Given the description of an element on the screen output the (x, y) to click on. 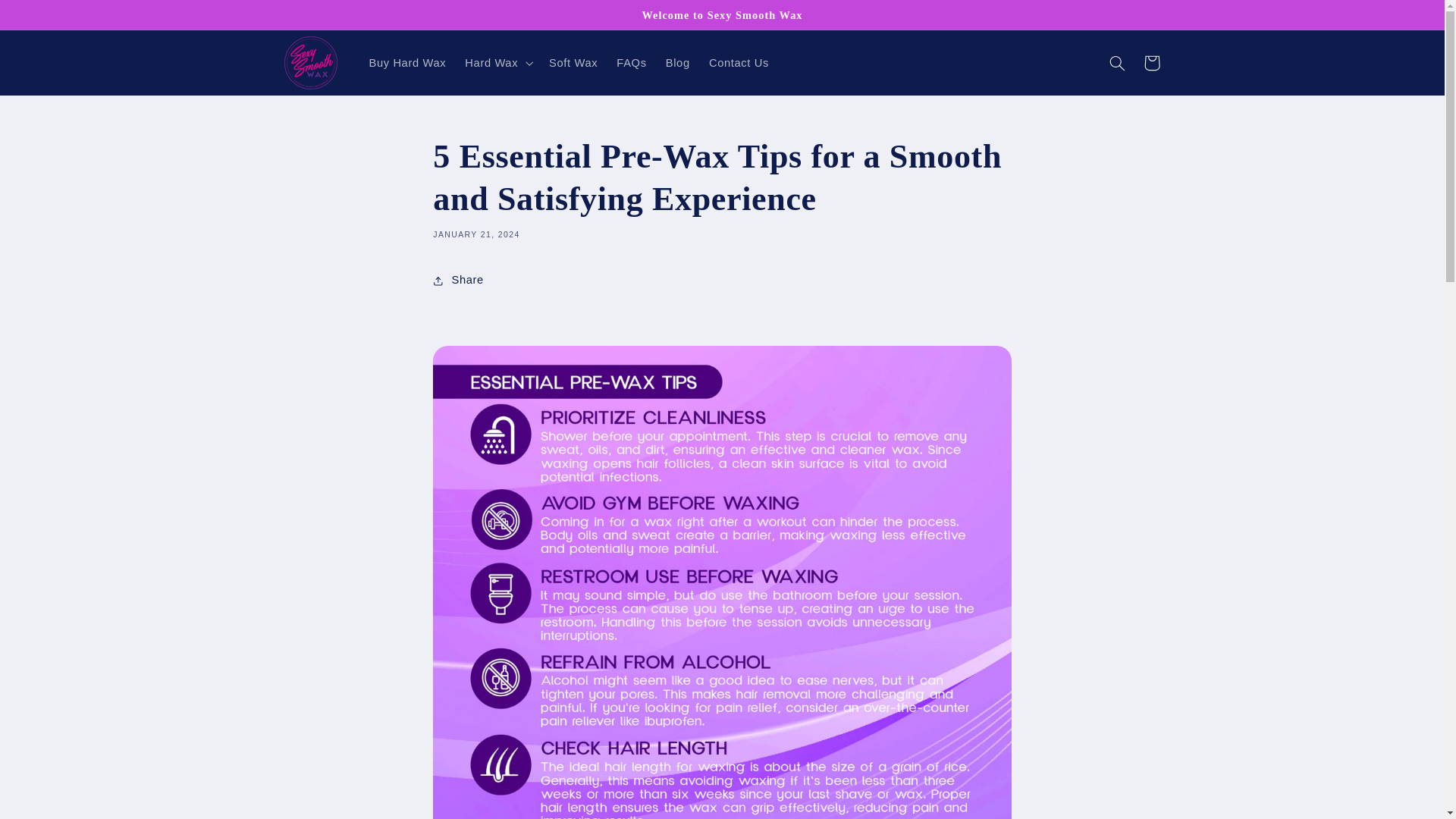
Blog (677, 62)
Skip to content (48, 18)
Buy Hard Wax (407, 62)
Soft Wax (573, 62)
Contact Us (737, 62)
FAQs (631, 62)
Cart (1151, 62)
